Given the description of an element on the screen output the (x, y) to click on. 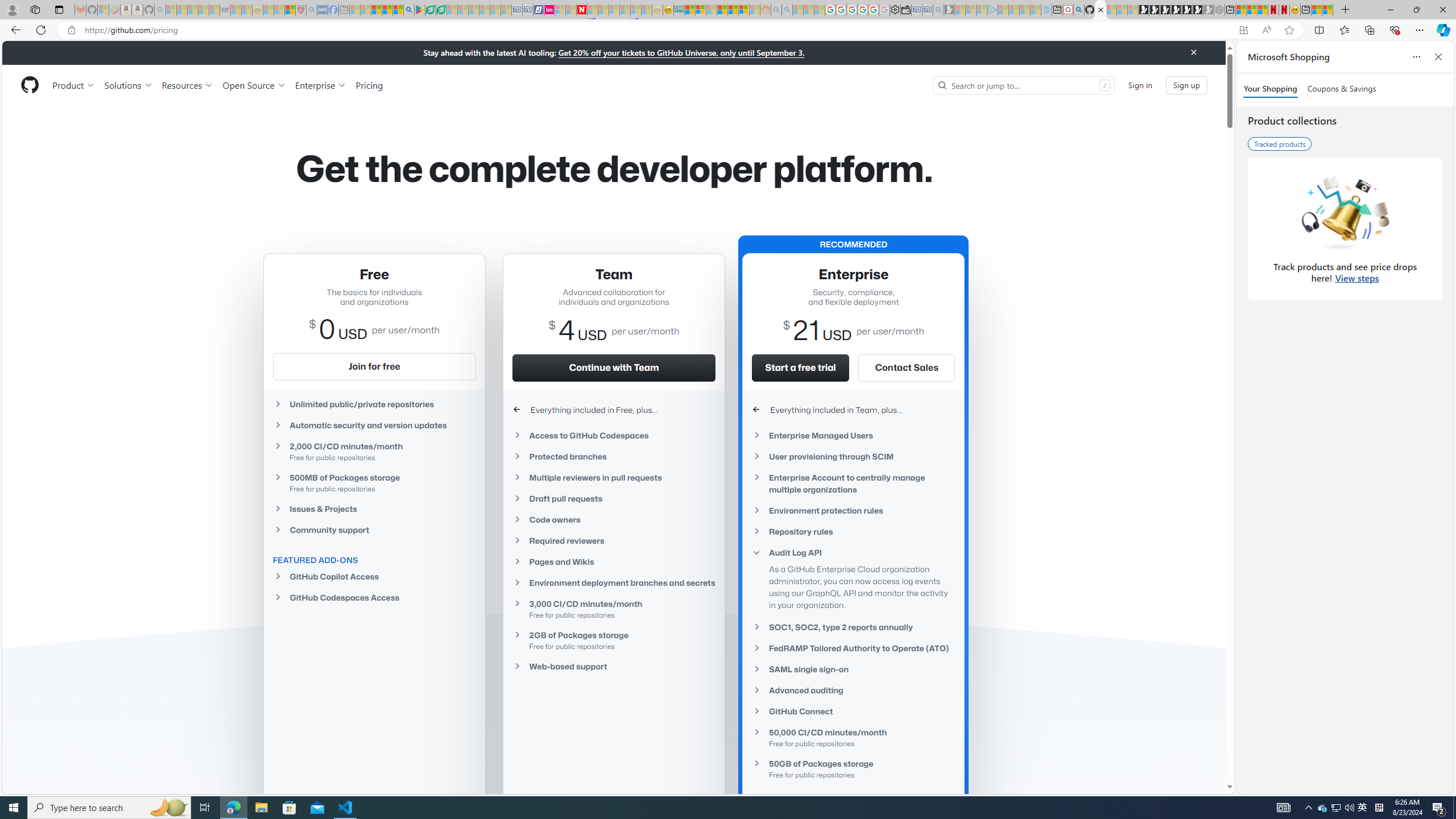
GitHub Connect (853, 711)
Open Source (254, 84)
Audit Log API (853, 552)
User provisioning through SCIM (853, 456)
Community support (374, 529)
github - Search (1078, 9)
Community support (374, 529)
